Given the description of an element on the screen output the (x, y) to click on. 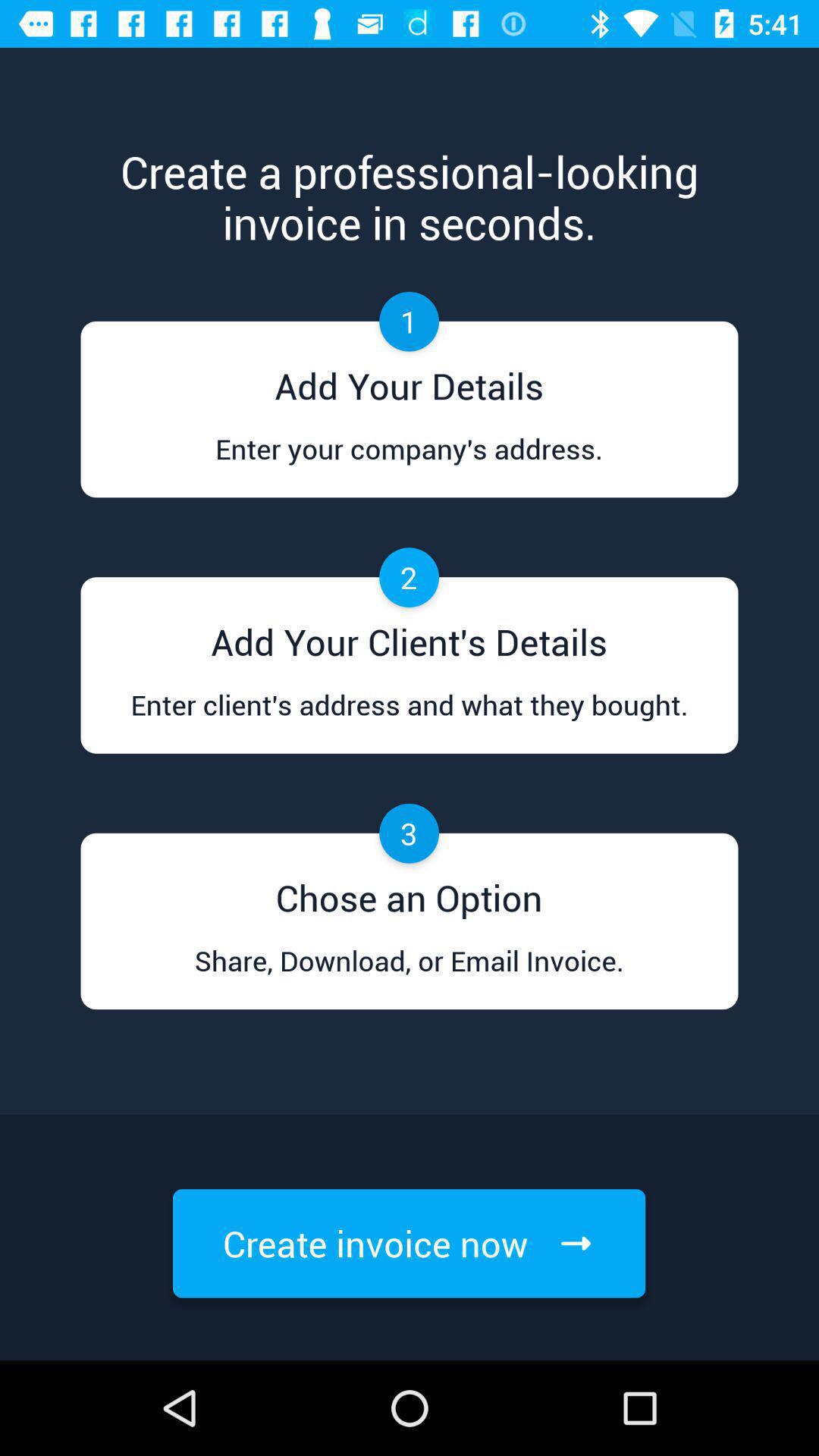
click on chose an option (409, 892)
select the article titled enter clients  address and what they bought  (409, 719)
select the last text in the page (408, 1243)
text called below choose an option (409, 975)
click the companys address in first option (408, 463)
